Given the description of an element on the screen output the (x, y) to click on. 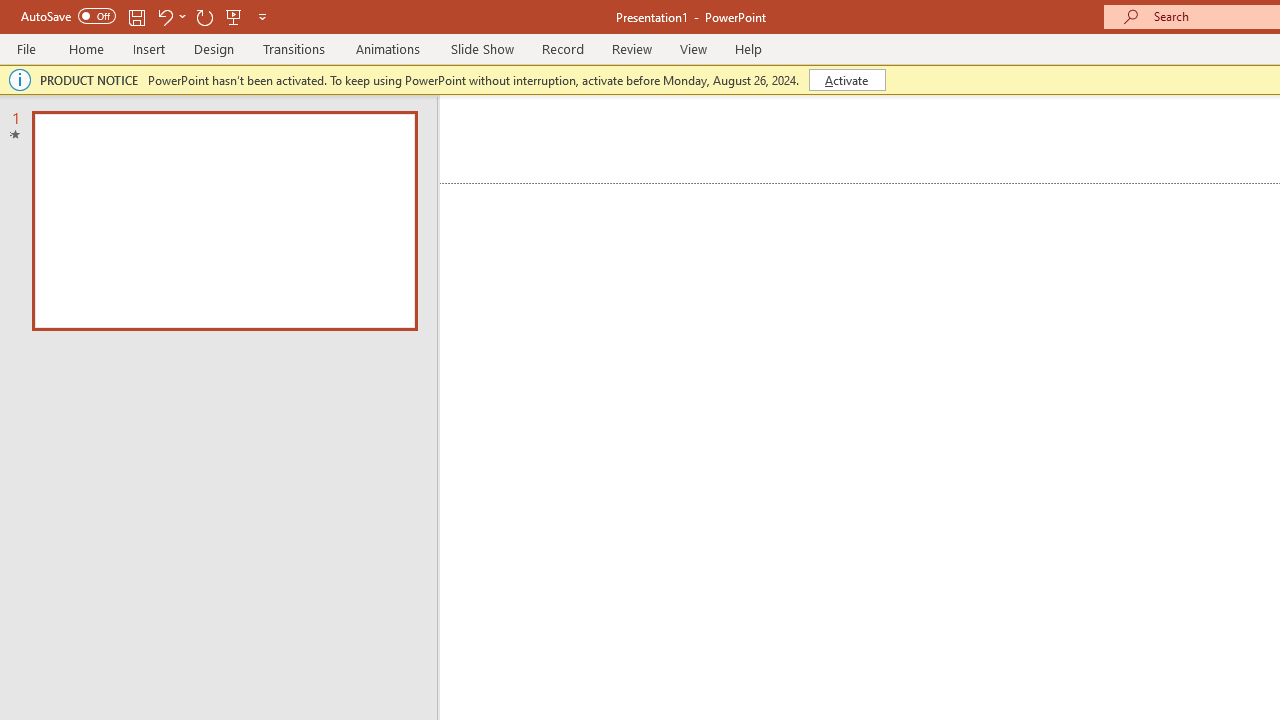
Activate (846, 79)
